Given the description of an element on the screen output the (x, y) to click on. 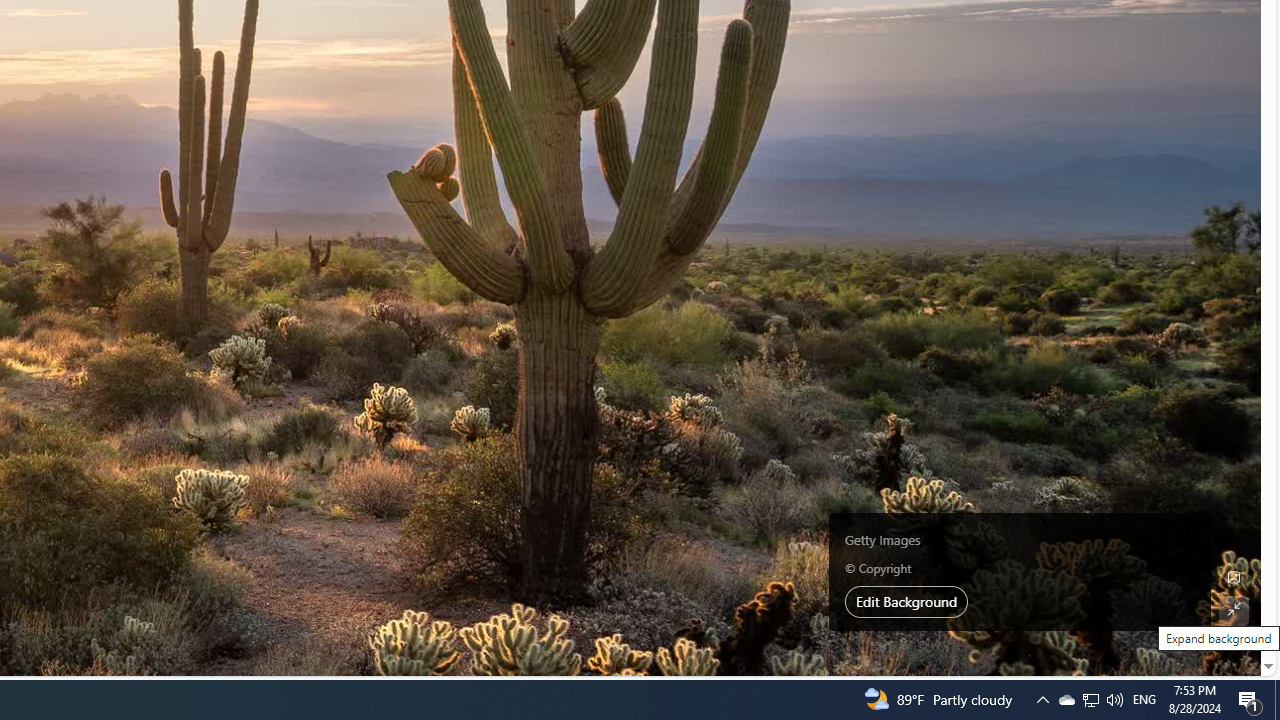
View comments 8 Comment (279, 170)
Traffic incidents (555, 543)
tab-3 (524, 175)
Edit Background (1233, 577)
Change scenarios (620, 543)
View comments 8 Comment (273, 169)
182 Like (190, 170)
